Given the description of an element on the screen output the (x, y) to click on. 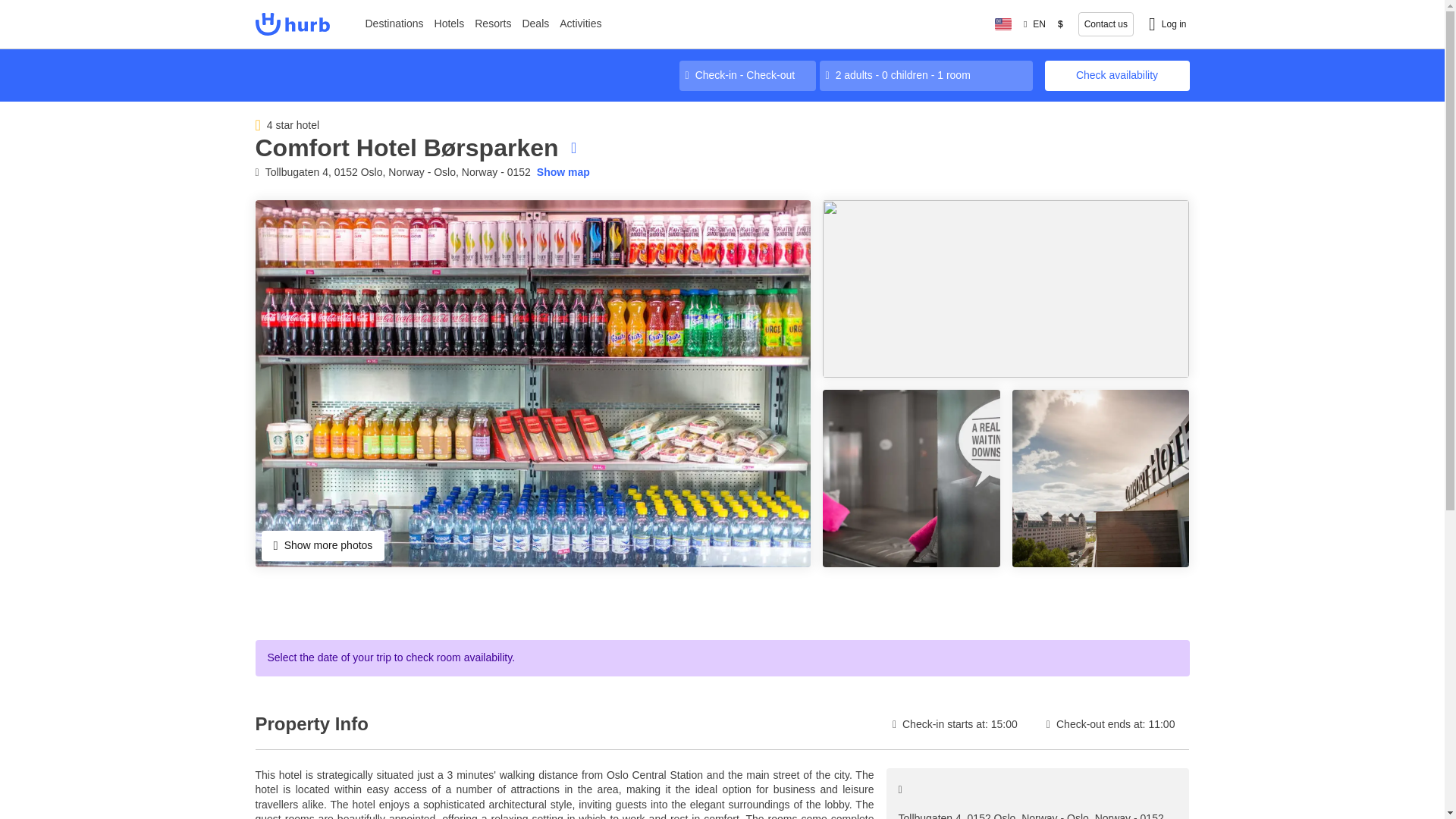
Destinations (393, 23)
Contact us (1106, 24)
Resorts (492, 23)
Hotels (449, 23)
Activities (580, 23)
Hotels (449, 23)
Activities (580, 23)
Deals (535, 23)
Destinations (393, 23)
Deals (535, 23)
Check availability (1117, 75)
Show more photos (322, 545)
EN (1034, 24)
Hurb (291, 24)
Resorts (492, 23)
